Given the description of an element on the screen output the (x, y) to click on. 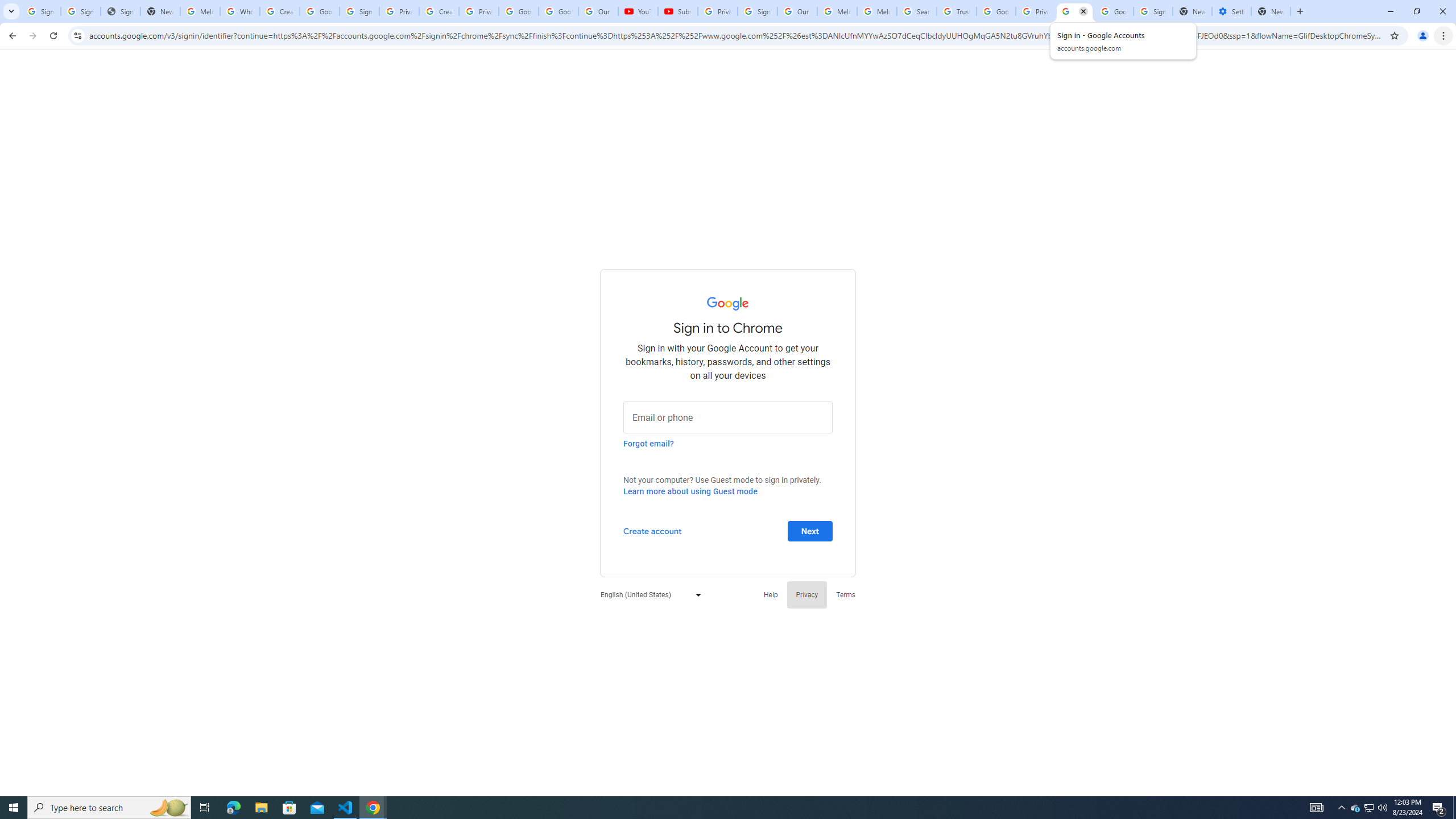
Google Ads - Sign in (995, 11)
YouTube (637, 11)
Learn more about using Guest mode (689, 491)
